Given the description of an element on the screen output the (x, y) to click on. 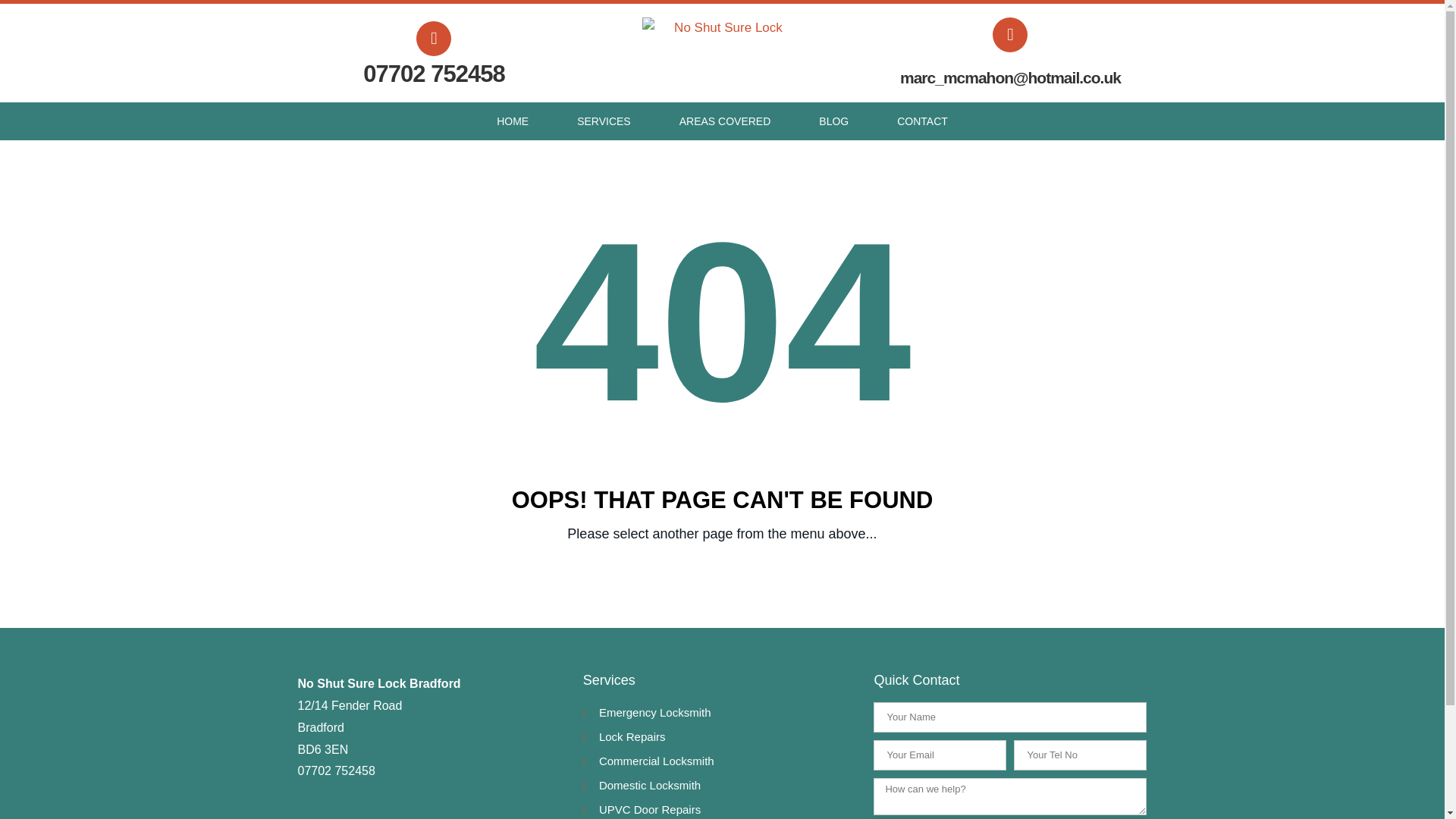
SERVICES (604, 121)
BLOG (833, 121)
HOME (512, 121)
CONTACT (922, 121)
Domestic Locksmith (721, 785)
AREAS COVERED (724, 121)
Lock Repairs (721, 737)
UPVC Door Repairs (721, 809)
Emergency Locksmith (721, 712)
Commercial Locksmith (721, 762)
